Given the description of an element on the screen output the (x, y) to click on. 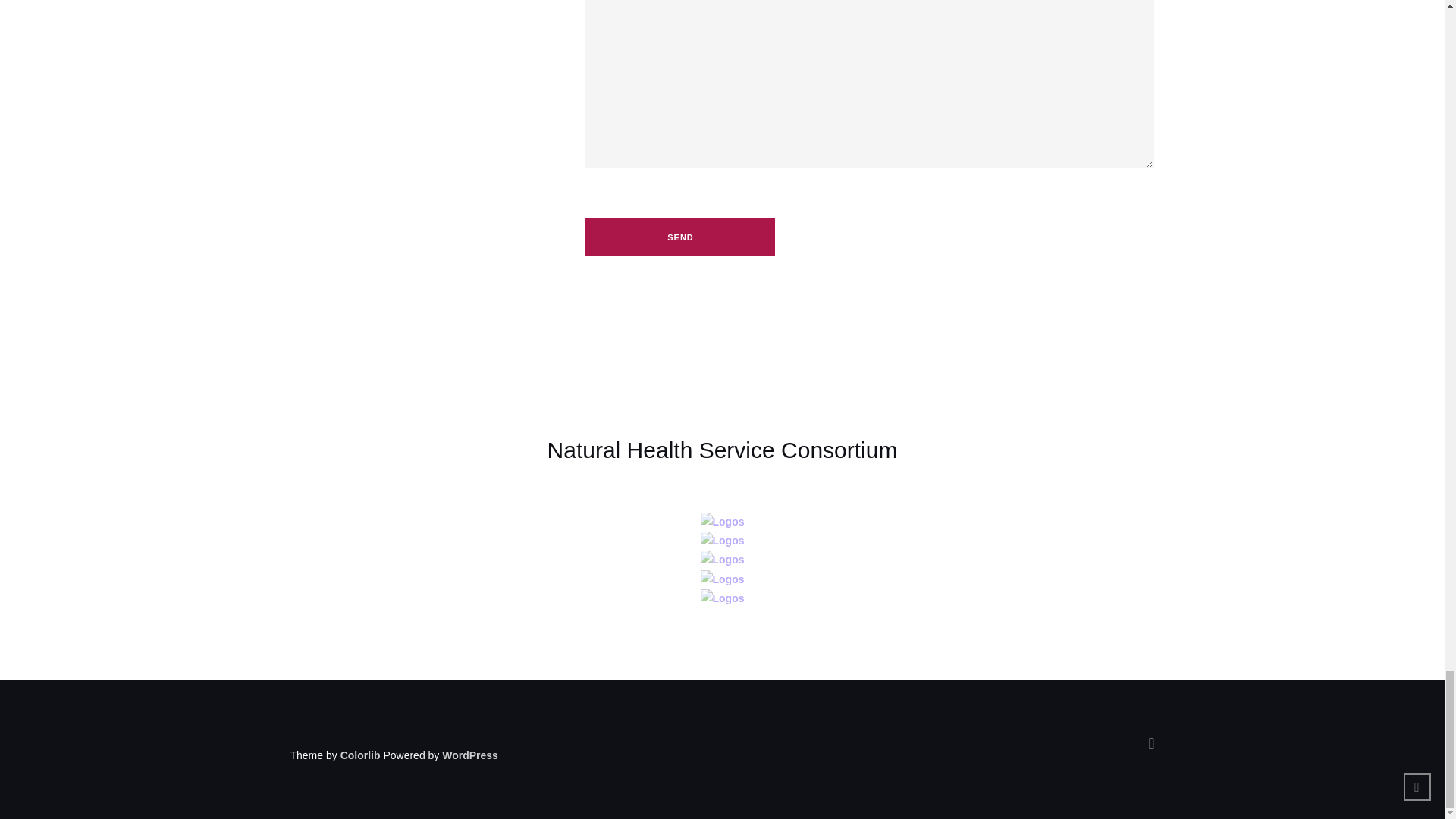
WordPress.org (469, 755)
Send (679, 236)
Colorlib (360, 755)
WordPress (469, 755)
Colorlib (360, 755)
Send (679, 236)
